Given the description of an element on the screen output the (x, y) to click on. 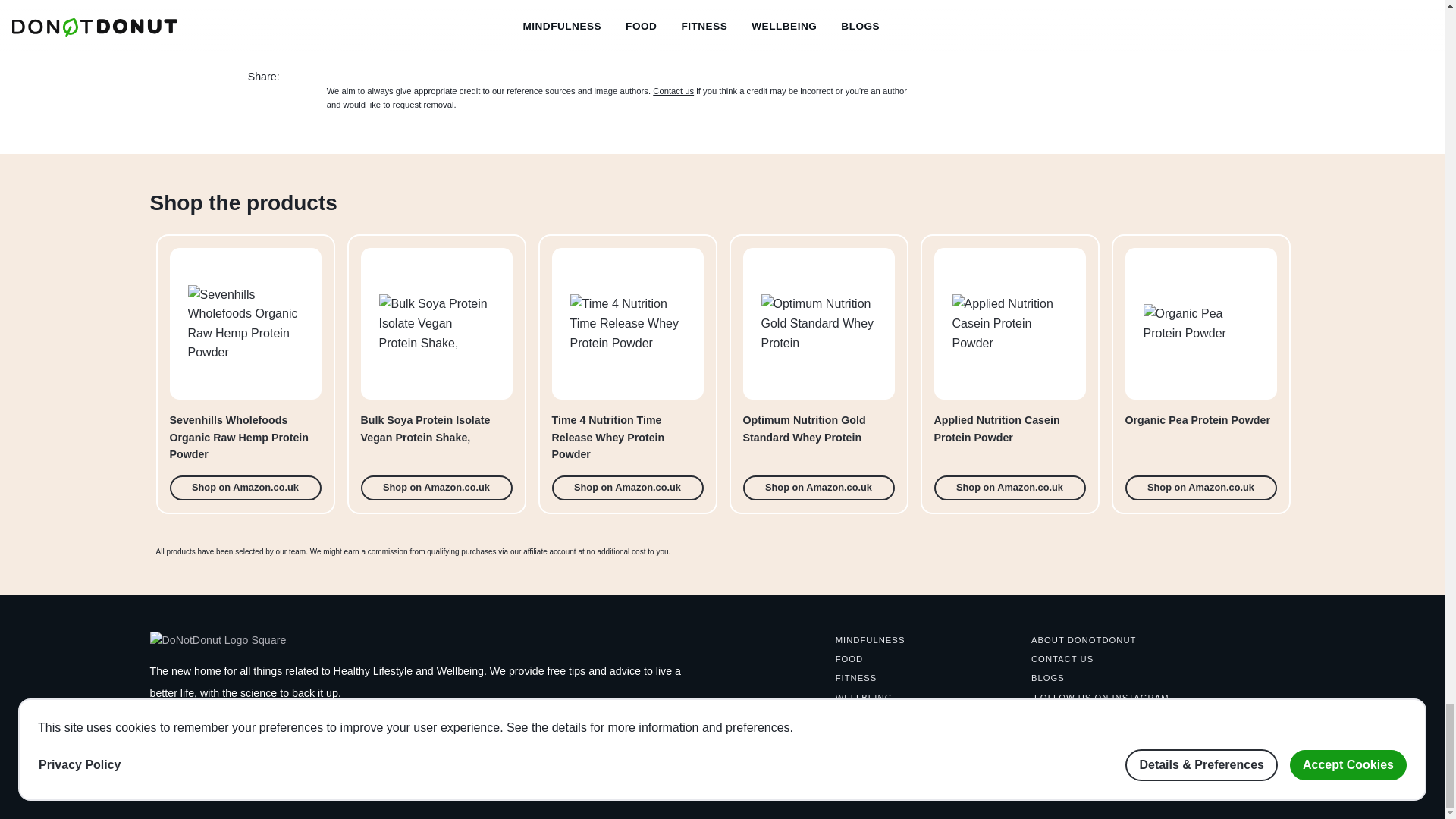
FOOD (1201, 374)
Contact us (849, 658)
MINDFULNESS (1009, 374)
